Given the description of an element on the screen output the (x, y) to click on. 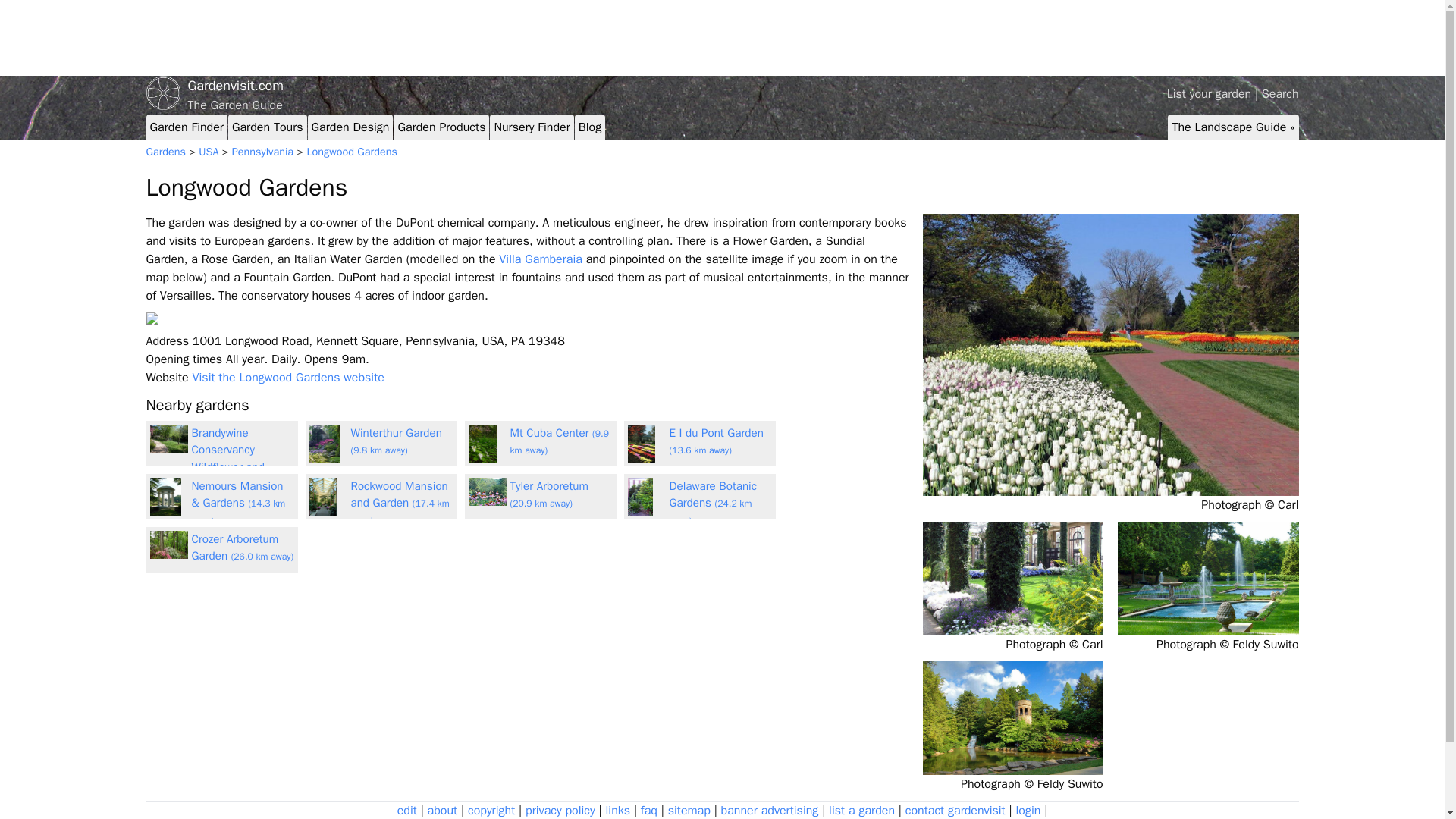
Blog (589, 126)
Gardenvisit.com (721, 86)
Search (1280, 93)
Garden Tours (266, 126)
3rd party ad content (1216, 38)
3rd party ad content (421, 38)
Nursery Finder (531, 126)
Garden Products (440, 126)
Garden Design (350, 126)
List your garden (1209, 93)
Garden Finder (186, 126)
